Given the description of an element on the screen output the (x, y) to click on. 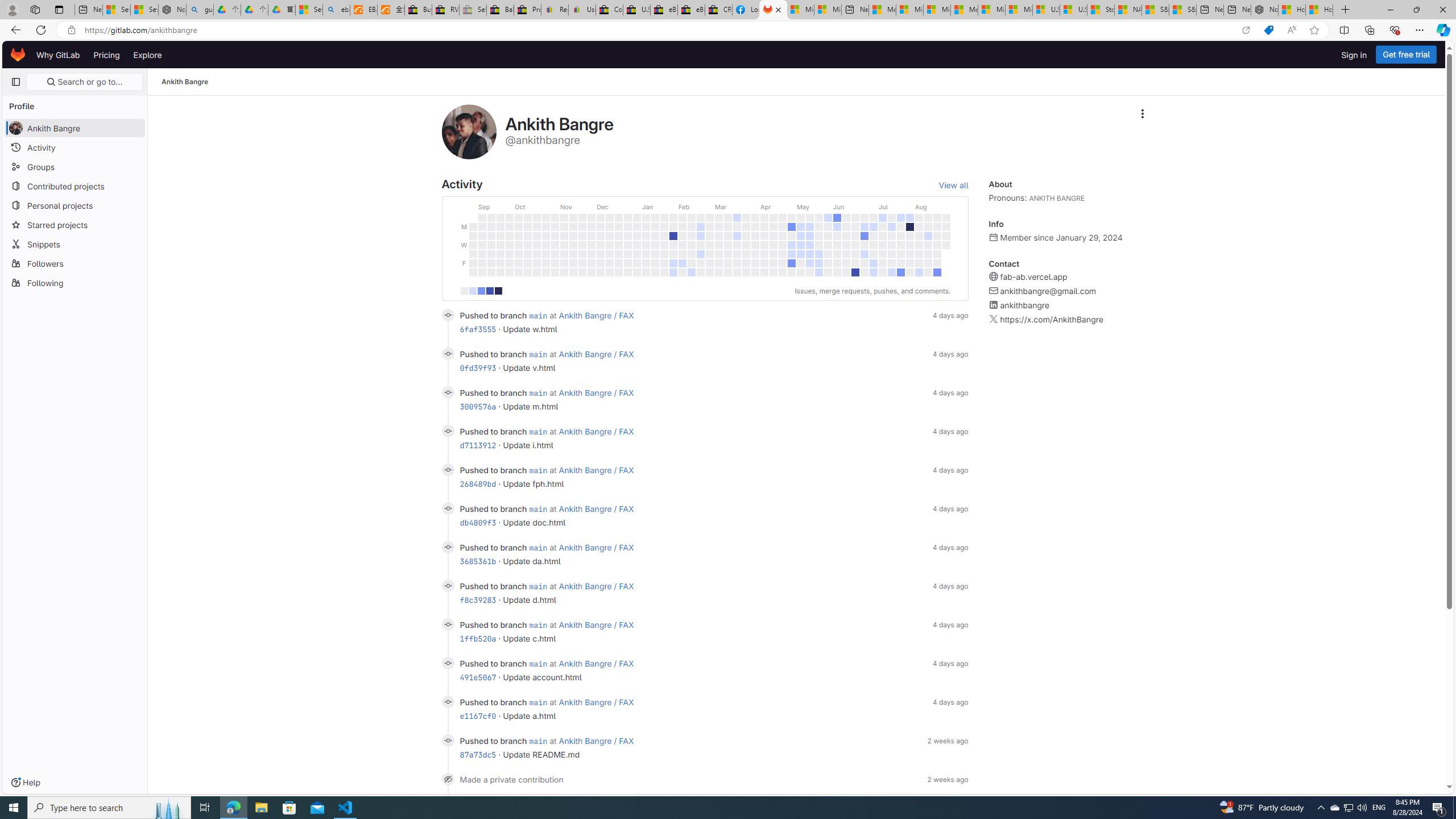
avatar (15, 128)
Explore (146, 54)
How to Use a Monitor With Your Closed Laptop (1319, 9)
Tab actions menu (58, 9)
